Given the description of an element on the screen output the (x, y) to click on. 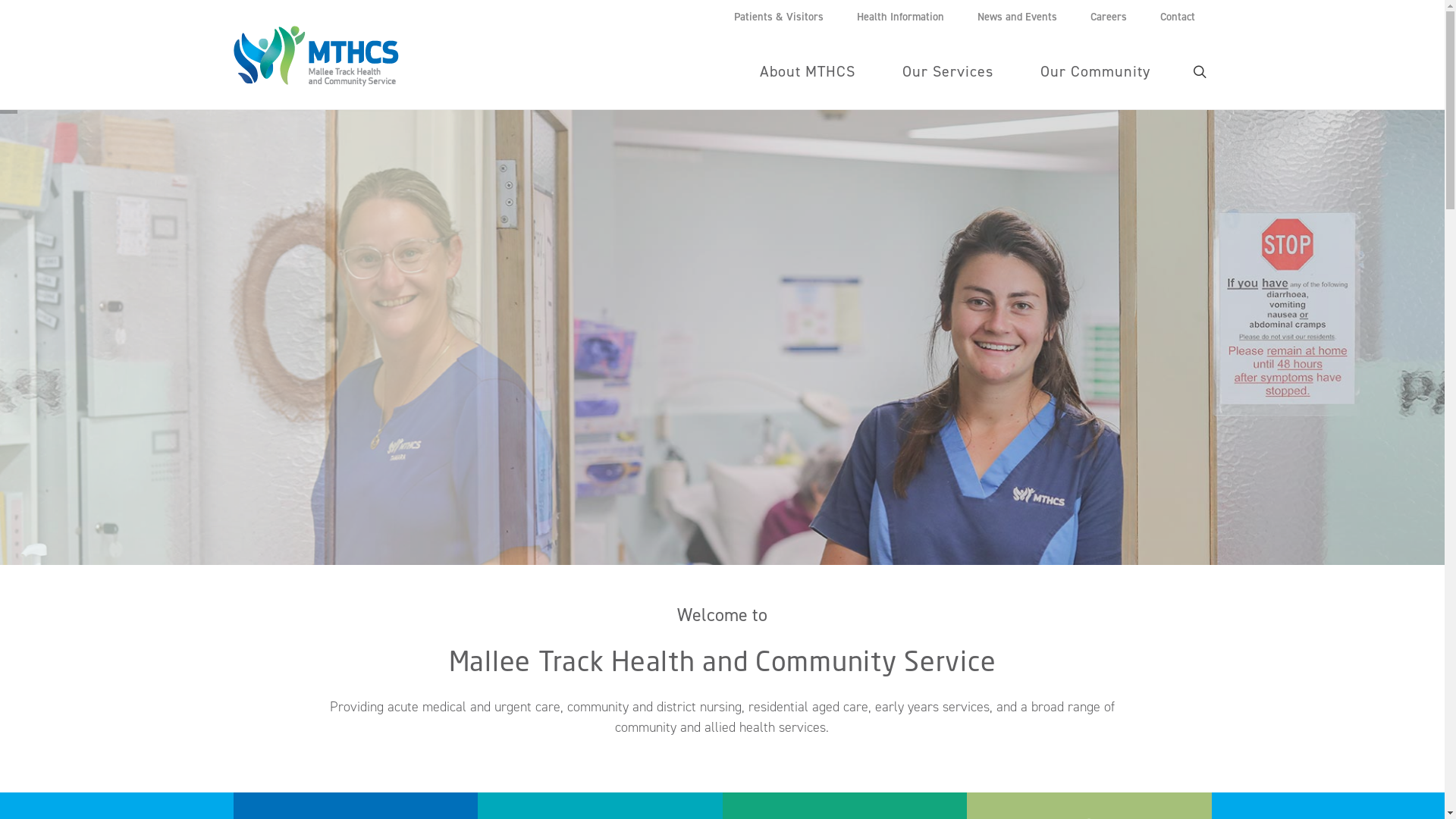
MORE INFO Element type: text (1145, 411)
News and Events Element type: text (1016, 16)
Patients & Visitors Element type: text (778, 16)
Our Services Element type: text (947, 71)
Contact Element type: text (1177, 16)
Careers Element type: text (1108, 16)
Health Information Element type: text (900, 16)
About MTHCS Element type: text (806, 71)
Our Community Element type: text (1094, 71)
